Given the description of an element on the screen output the (x, y) to click on. 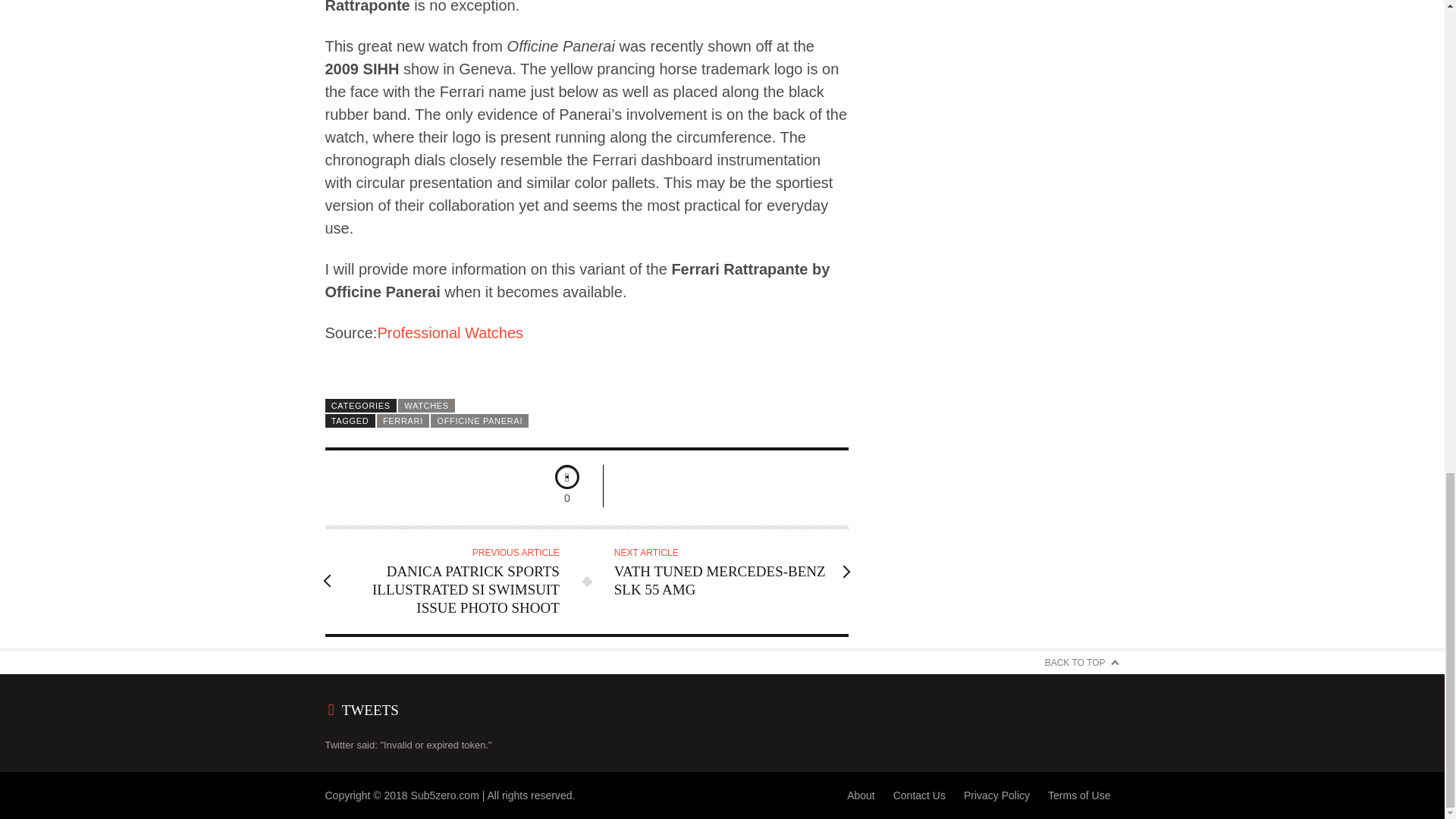
View all posts tagged Officine Panerai (479, 420)
Professional Watches (449, 332)
View all posts tagged Ferrari (403, 420)
WATCHES (425, 405)
FERRARI (403, 420)
OFFICINE PANERAI (479, 420)
View all posts in Watches (425, 405)
